Given the description of an element on the screen output the (x, y) to click on. 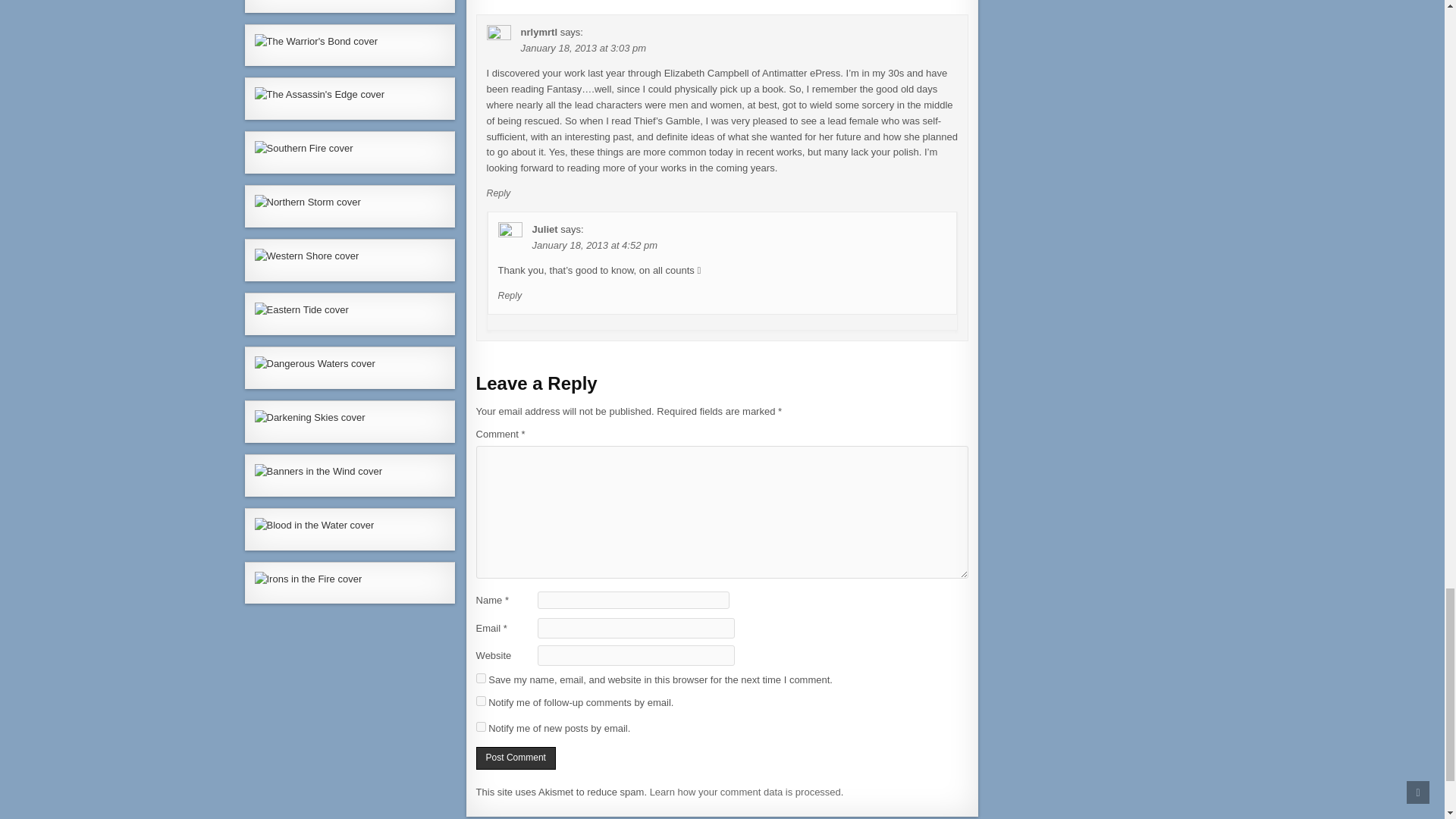
subscribe (481, 700)
subscribe (481, 726)
Post Comment (516, 758)
yes (481, 678)
